Given the description of an element on the screen output the (x, y) to click on. 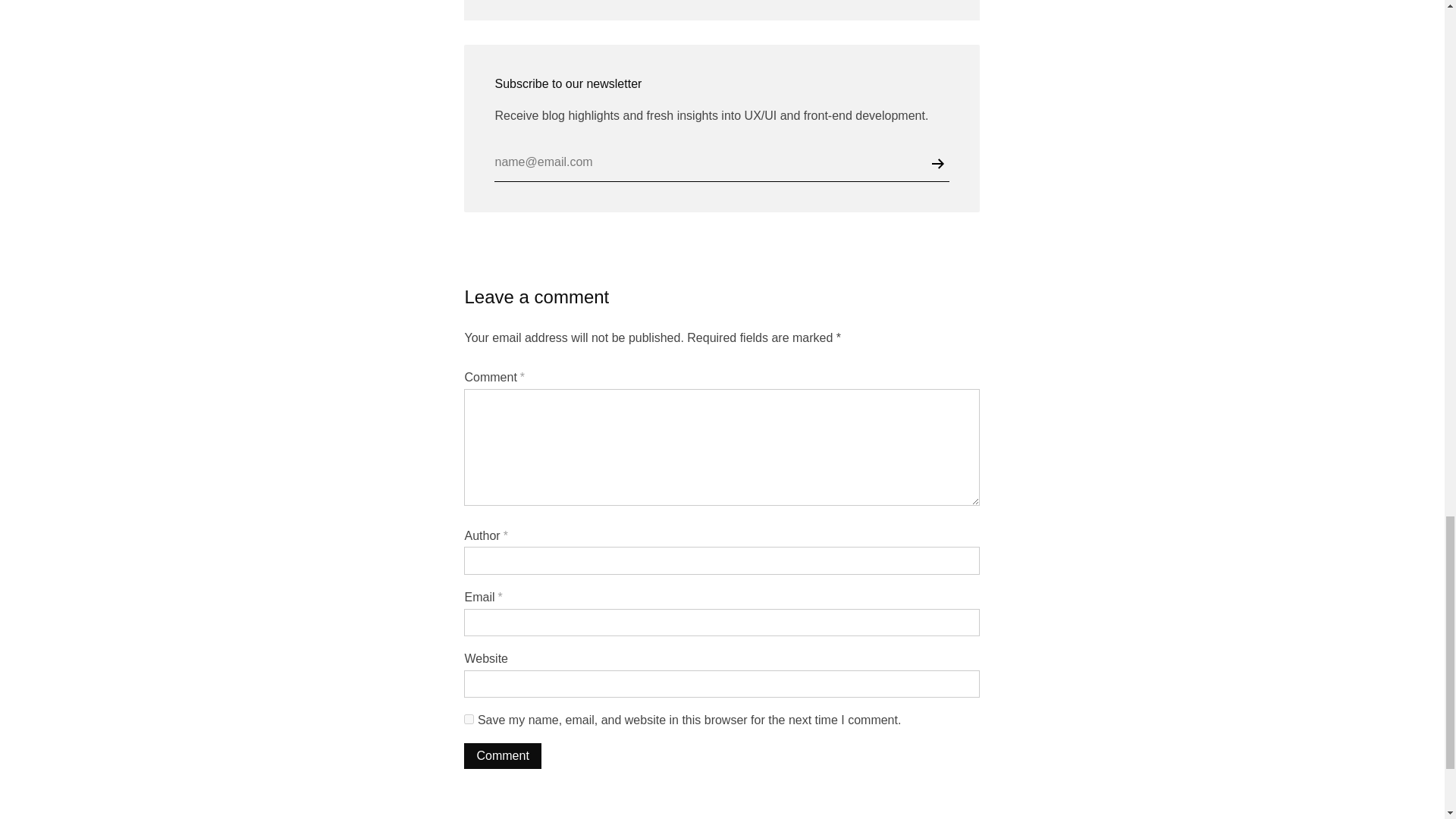
yes (469, 718)
Comment (502, 755)
Subscribe (940, 163)
Subscribe (940, 163)
Comment (502, 755)
